Given the description of an element on the screen output the (x, y) to click on. 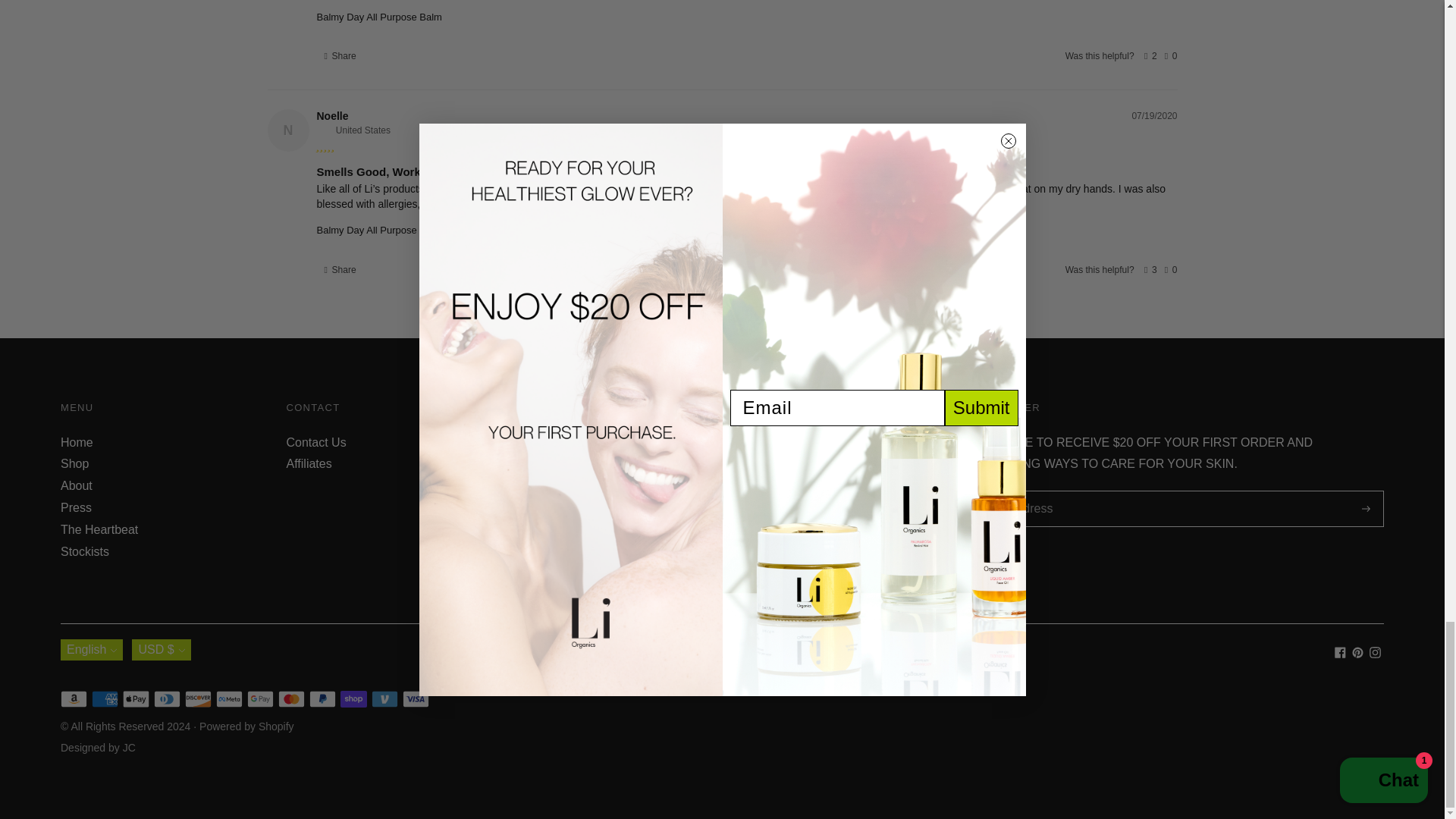
Discover (197, 699)
Apple Pay (135, 699)
American Express (104, 699)
Meta Pay (229, 699)
Diners Club (167, 699)
Amazon (74, 699)
